Given the description of an element on the screen output the (x, y) to click on. 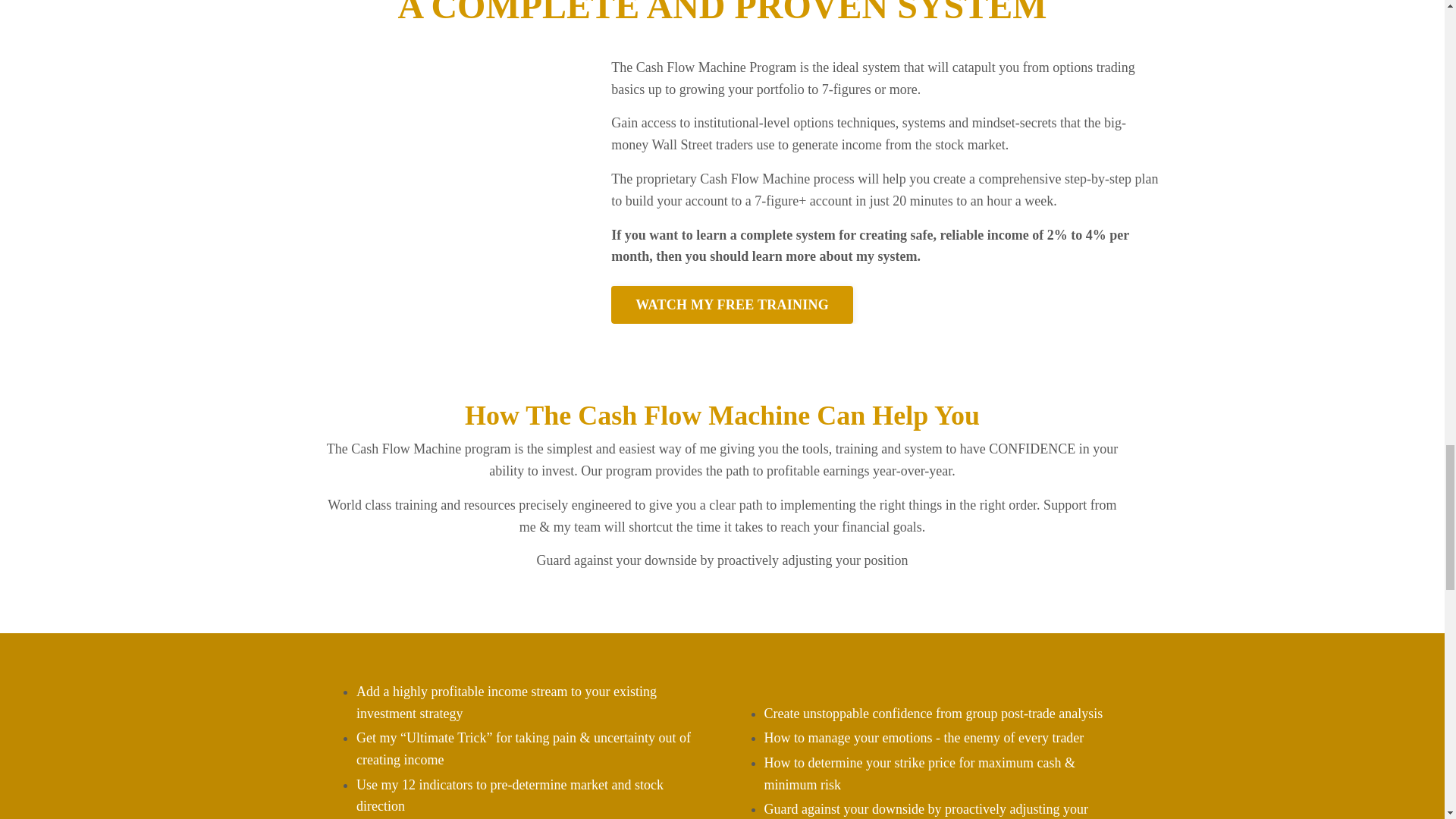
WATCH MY FREE TRAINING (732, 304)
